Given the description of an element on the screen output the (x, y) to click on. 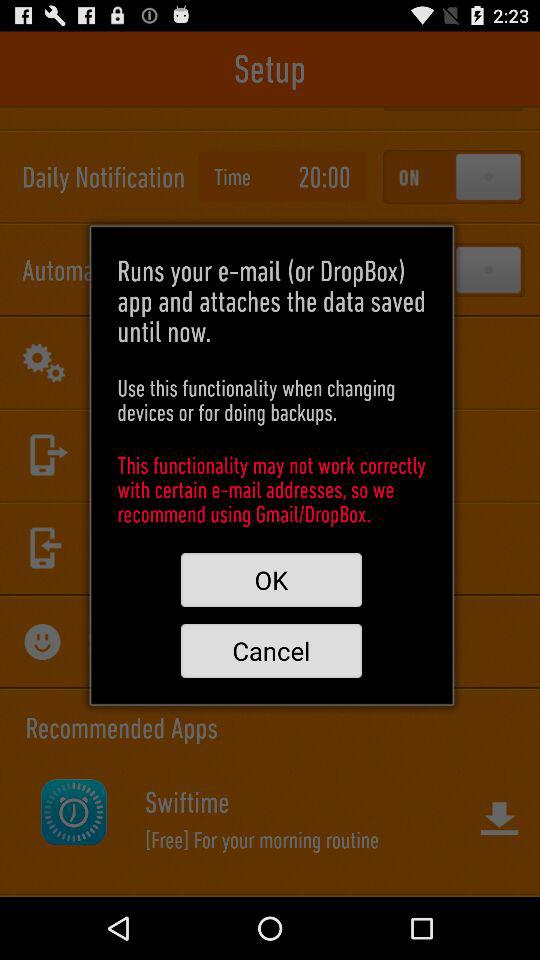
jump to ok icon (271, 580)
